Given the description of an element on the screen output the (x, y) to click on. 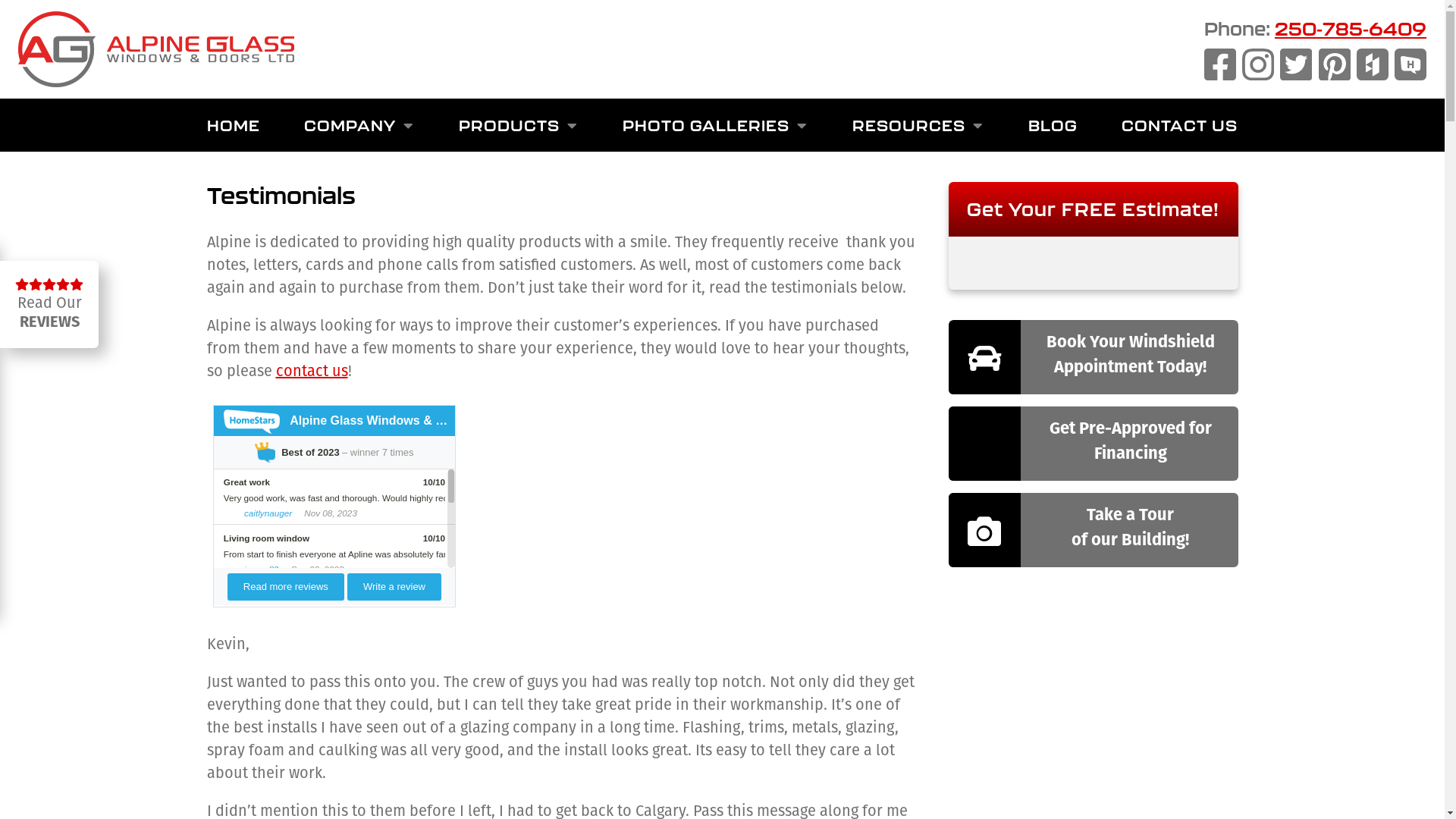
250-785-6409 Element type: text (1350, 28)
PHOTO GALLERIES Element type: text (714, 124)
PRODUCTS Element type: text (518, 124)
BLOG Element type: text (1052, 124)
Instagram Element type: text (1258, 64)
contact us Element type: text (312, 371)
CONTACT US Element type: text (1179, 124)
Take a Tour
of our Building! Element type: text (1093, 529)
Homestars Element type: text (1410, 64)
Skip to main content Element type: text (0, 0)
Houzz Element type: text (1372, 64)
Get Pre-Approved for Financing Element type: text (1093, 443)
COMPANY Element type: text (358, 124)
Pinterest Element type: text (1334, 64)
RESOURCES Element type: text (917, 124)
Facebook Element type: text (1220, 64)
HOME Element type: text (232, 124)
Read Our REVIEWS Element type: text (49, 304)
Twitter Element type: text (1295, 64)
Book Your Windshield Appointment Today! Element type: text (1093, 357)
